Given the description of an element on the screen output the (x, y) to click on. 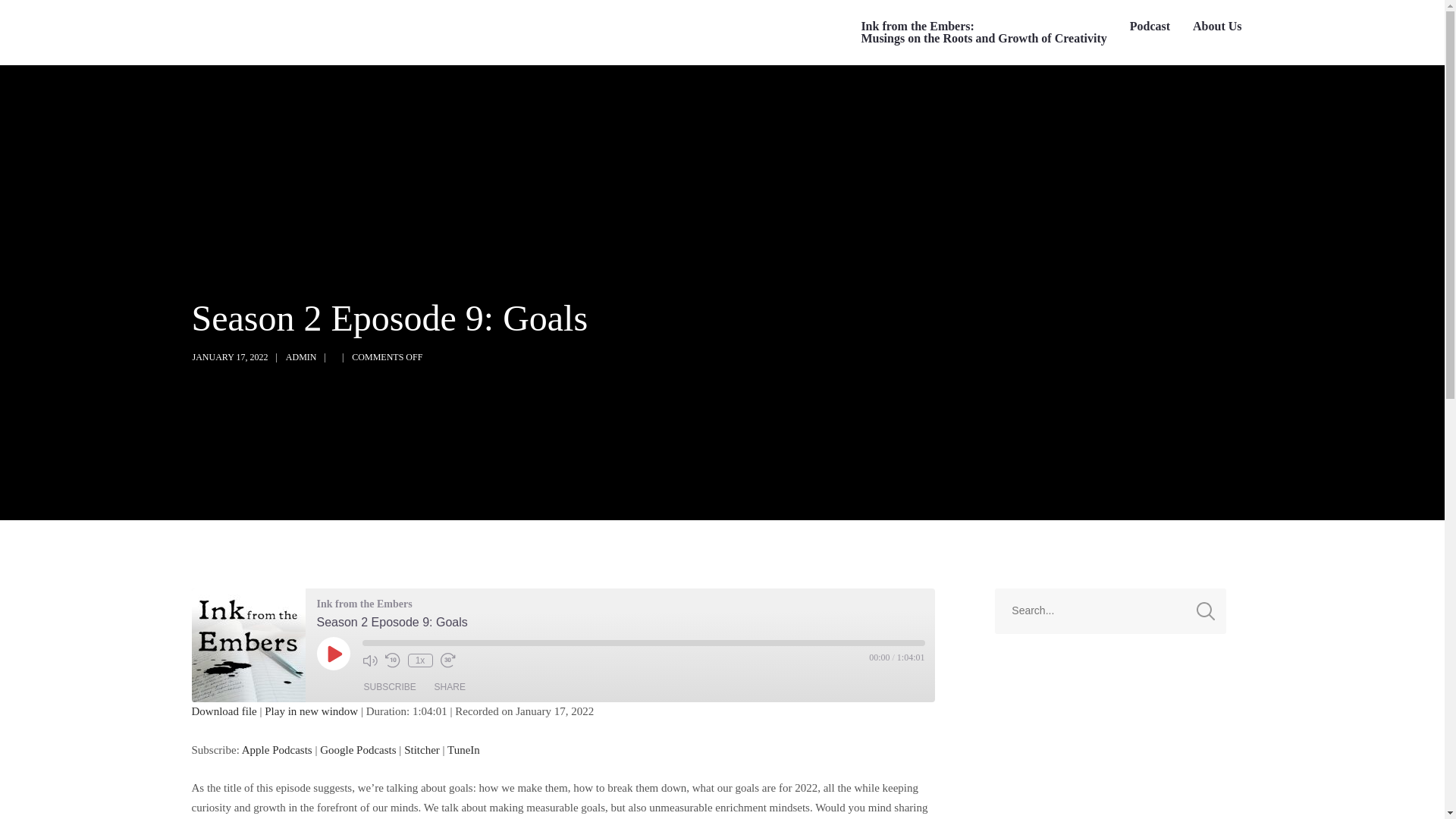
Playback Speed (419, 660)
Download file (223, 711)
SUBSCRIBE (389, 686)
About Us (1216, 26)
SHARE (449, 686)
Play in new window (311, 711)
Fast Forward 30 seconds (446, 660)
TuneIn (463, 748)
Seek (643, 642)
Share (449, 686)
Google Podcasts (358, 748)
Subscribe (389, 686)
Stitcher (421, 748)
1x (419, 660)
